Given the description of an element on the screen output the (x, y) to click on. 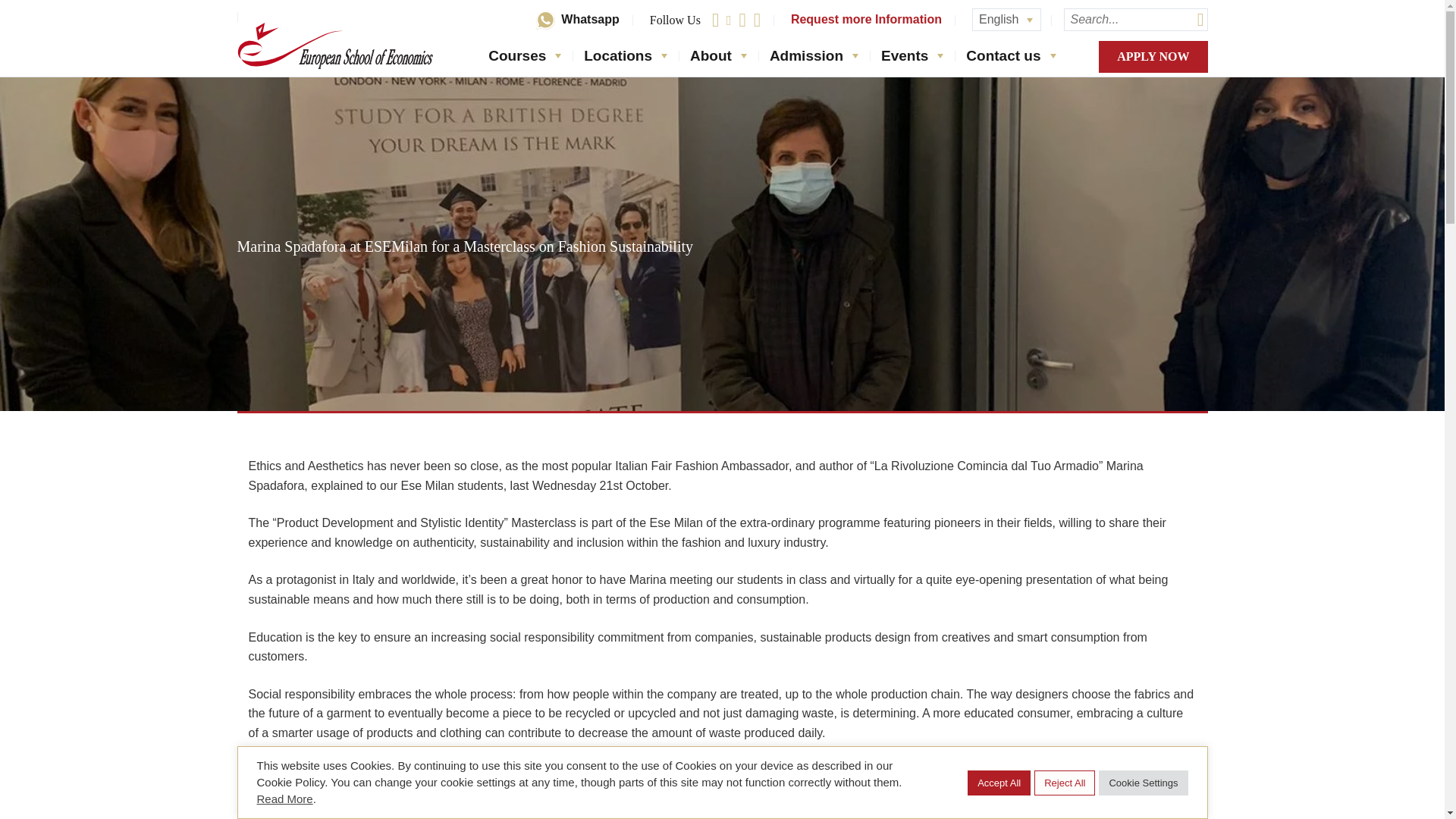
Whatsapp (576, 19)
English (1005, 19)
Courses (512, 56)
Request more Information (866, 19)
